Given the description of an element on the screen output the (x, y) to click on. 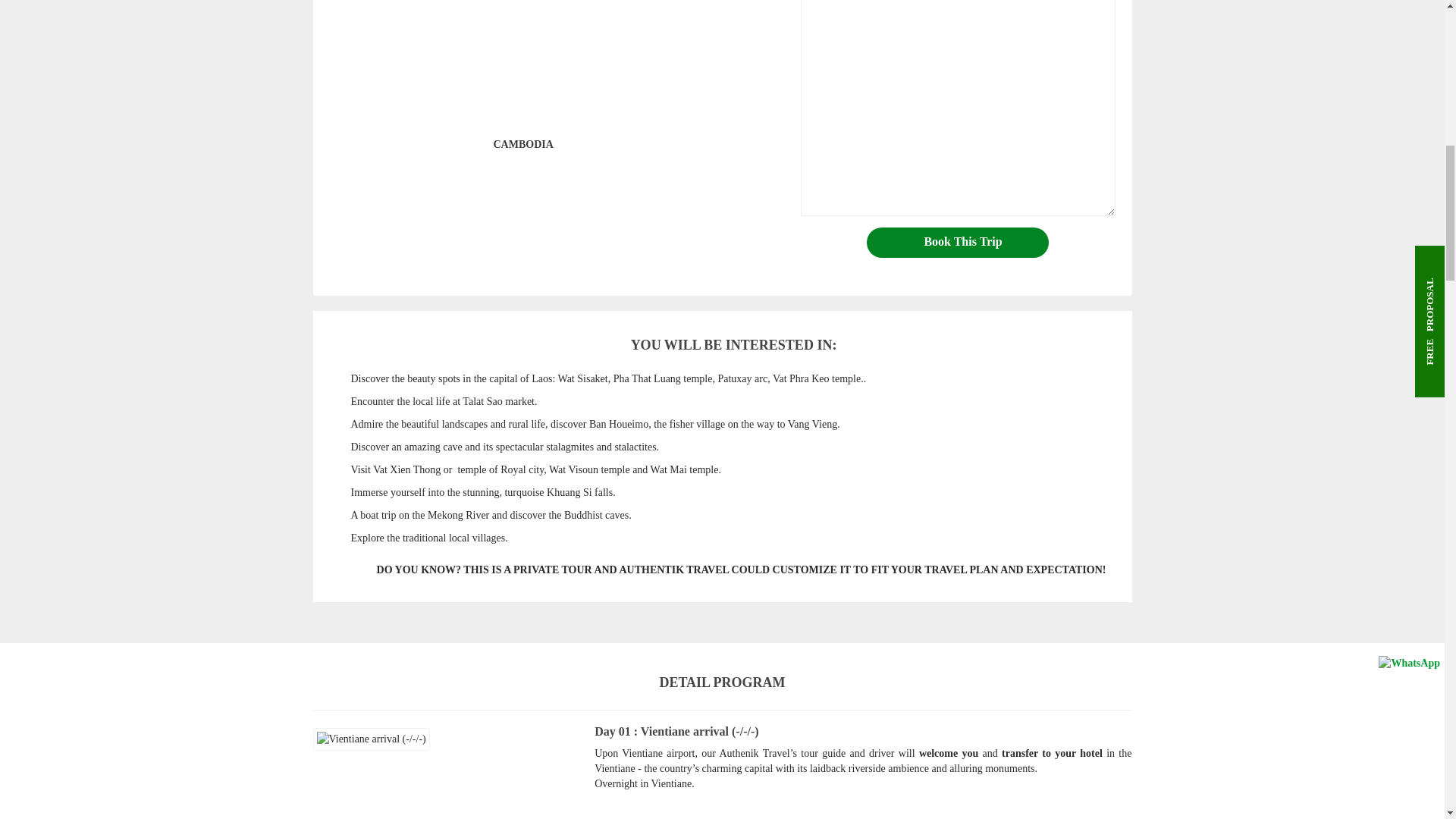
Book This Trip (957, 242)
